Given the description of an element on the screen output the (x, y) to click on. 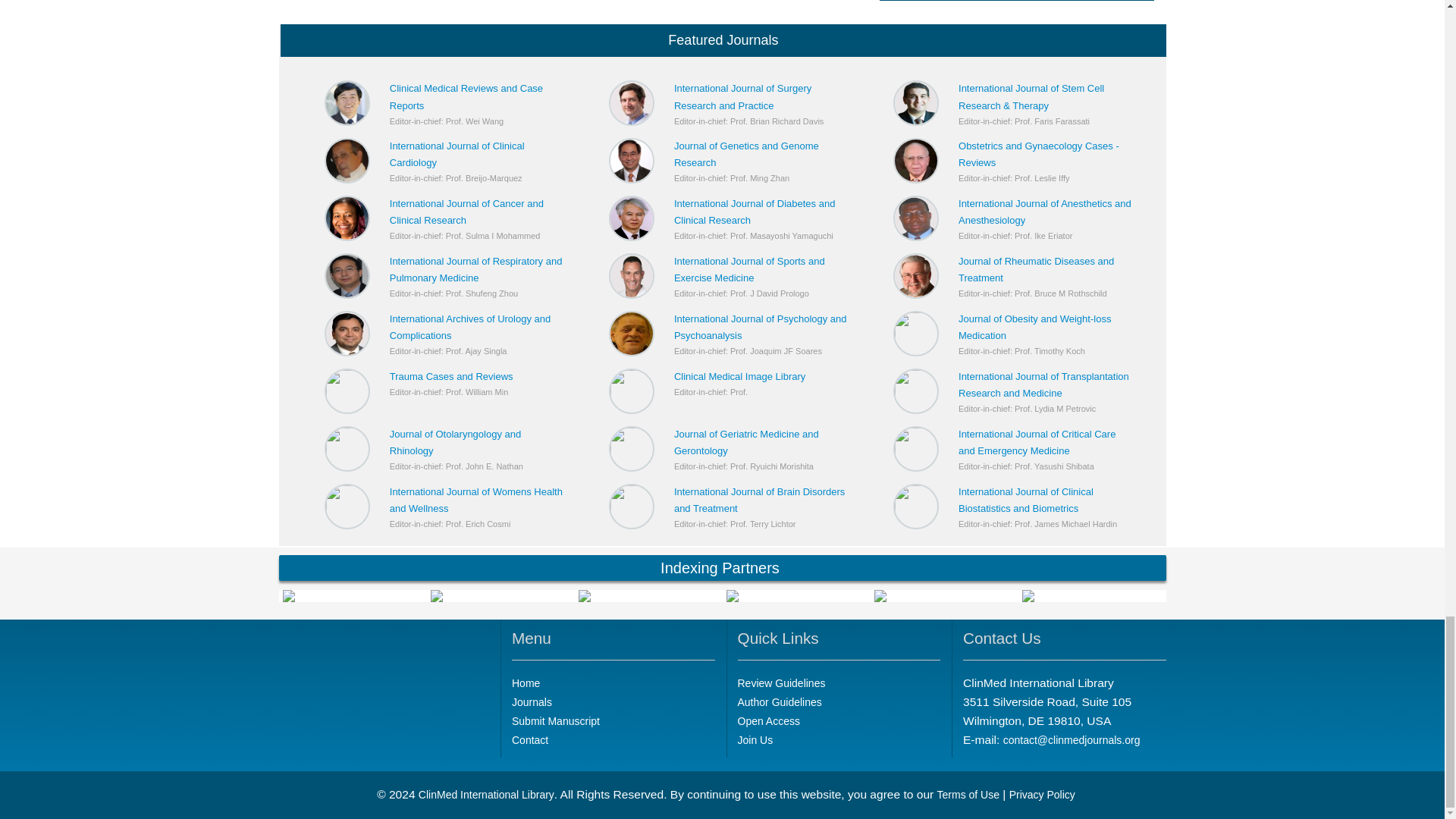
International Journal of Psychology and Psychoanalysis (760, 326)
International Journal of Cancer and Clinical Research (466, 212)
Journal of Genetics and Genome Research (746, 154)
Journal of Obesity and Weight-loss Medication (1034, 326)
Obstetrics and Gynaecology Cases - Reviews (1038, 154)
Clinical Medical Reviews and Case Reports (466, 96)
International Journal of Sports and Exercise Medicine (749, 269)
International Journal of Diabetes and Clinical Research (754, 212)
Journal of Rheumatic Diseases and Treatment (1035, 269)
Trauma Cases and Reviews (451, 376)
Journal of Otolaryngology and Rhinology (455, 442)
International Journal of Anesthetics and Anesthesiology (1044, 212)
International Journal of Clinical Cardiology (457, 154)
International Journal of Surgery Research and Practice (742, 96)
